Given the description of an element on the screen output the (x, y) to click on. 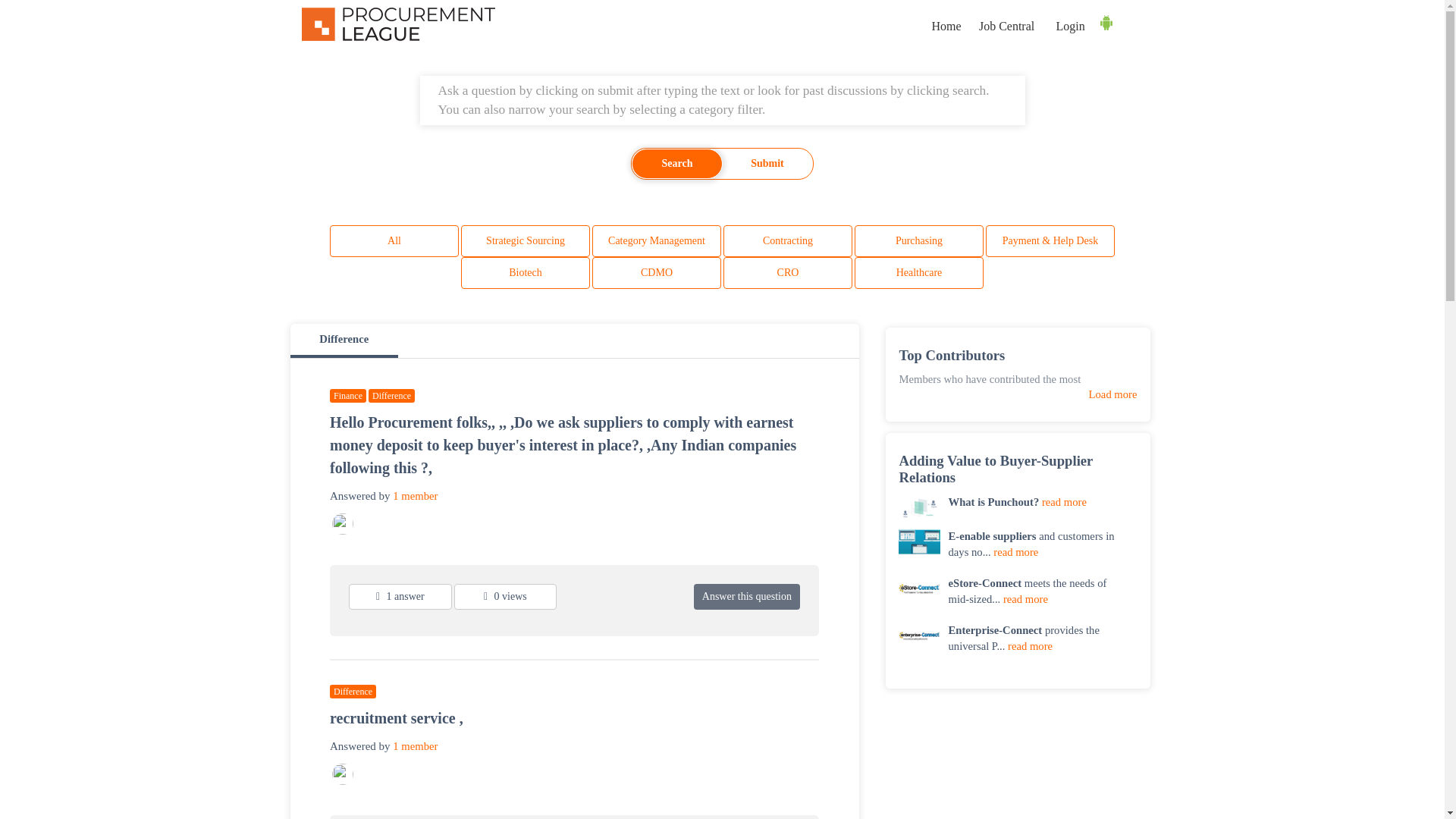
Login (1069, 27)
Difference (391, 395)
Job Central (1006, 27)
Strategic Sourcing (525, 241)
Home (945, 27)
Finance (348, 395)
James Moran (343, 773)
Saheena Ansari (343, 523)
Healthcare (919, 273)
Submit (767, 163)
CRO (787, 273)
Category Management (656, 241)
Biotech (525, 273)
All (394, 241)
Search (676, 163)
